Given the description of an element on the screen output the (x, y) to click on. 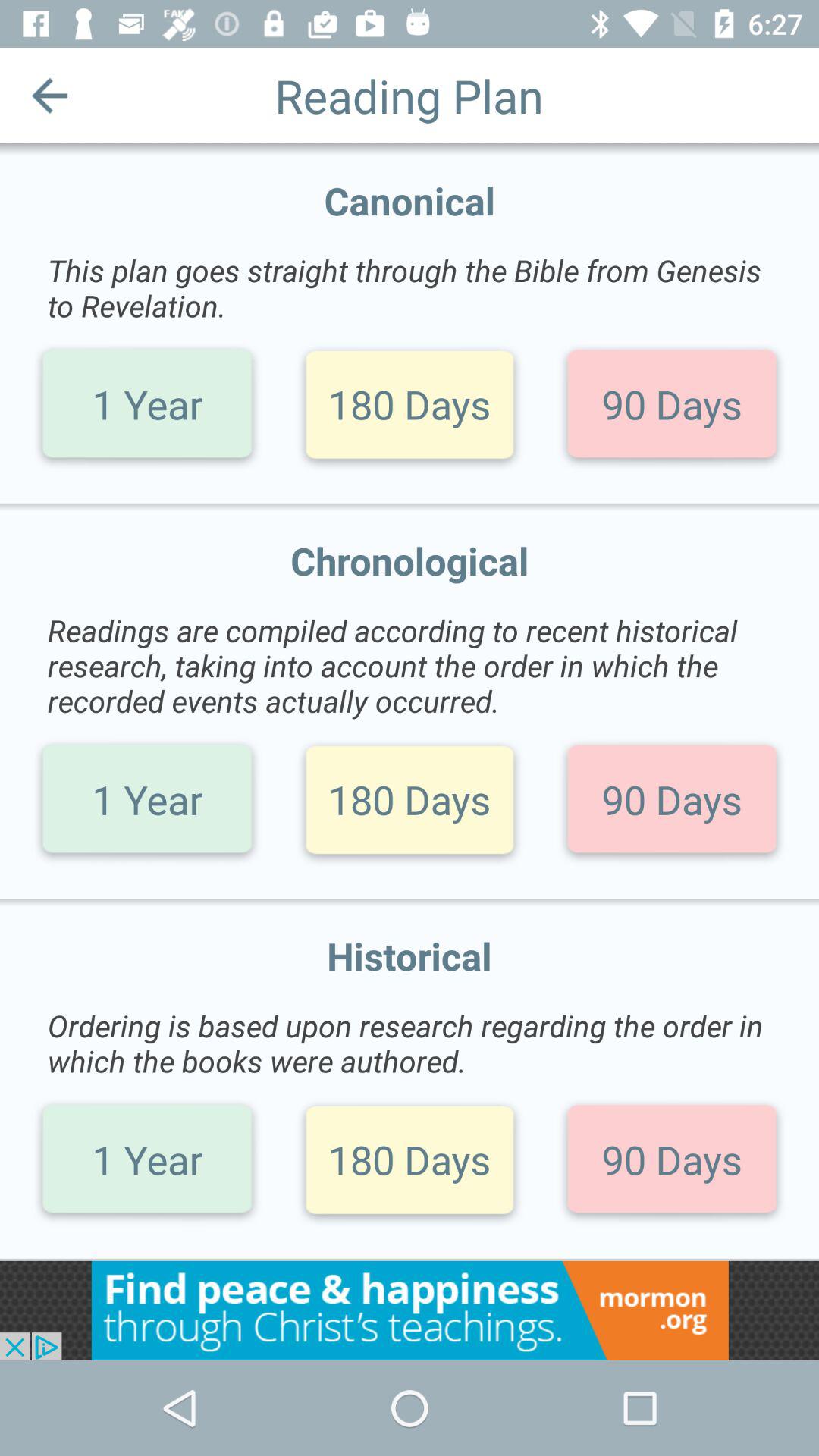
going back option (49, 95)
